Given the description of an element on the screen output the (x, y) to click on. 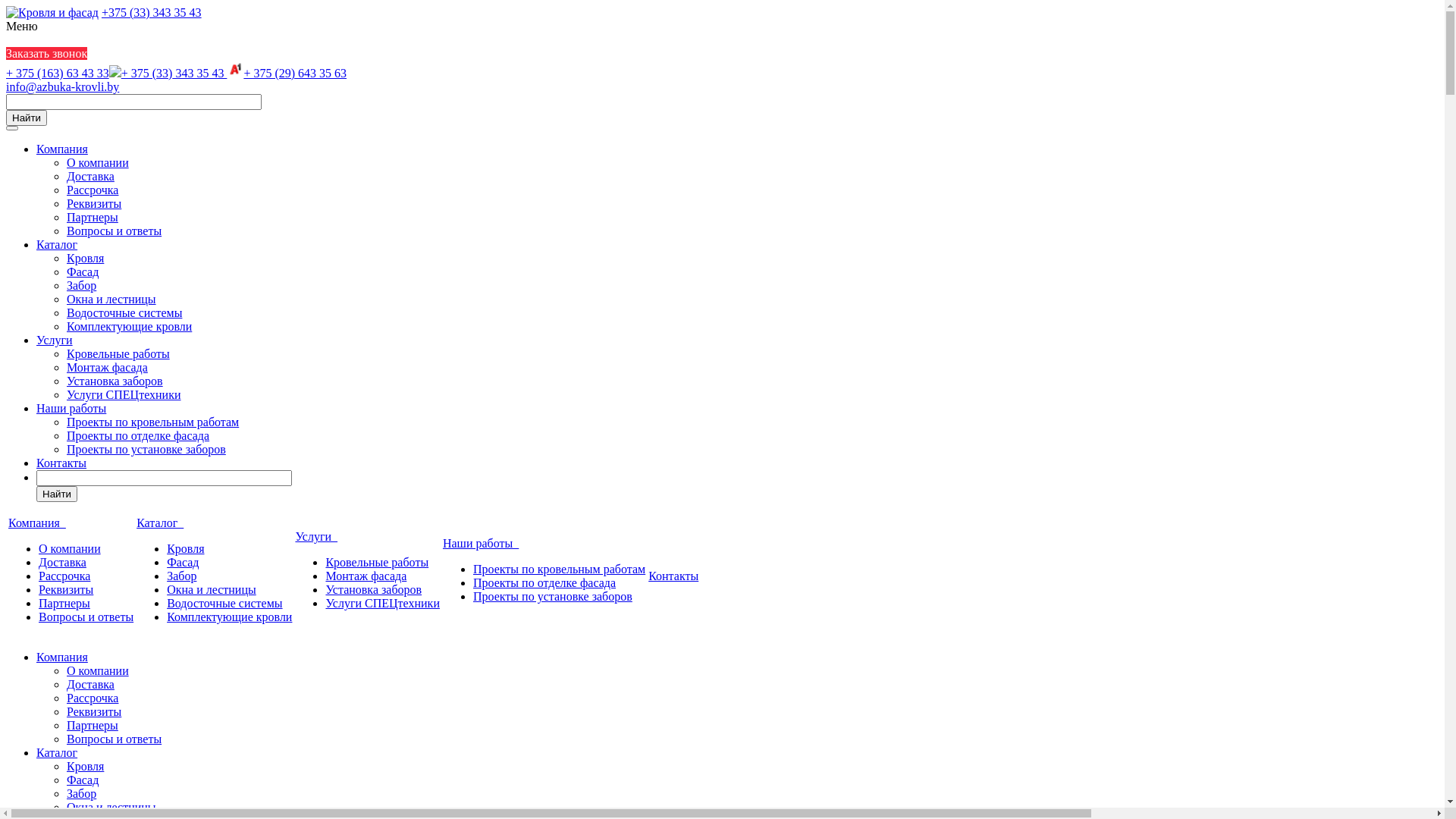
+ 375 (33) 343 35 43 Element type: text (168, 72)
info@azbuka-krovli.by Element type: text (62, 86)
+ 375 (163) 63 43 33 Element type: text (57, 72)
+375 (33) 343 35 43 Element type: text (151, 12)
+ 375 (29) 643 35 63 Element type: text (286, 72)
